Given the description of an element on the screen output the (x, y) to click on. 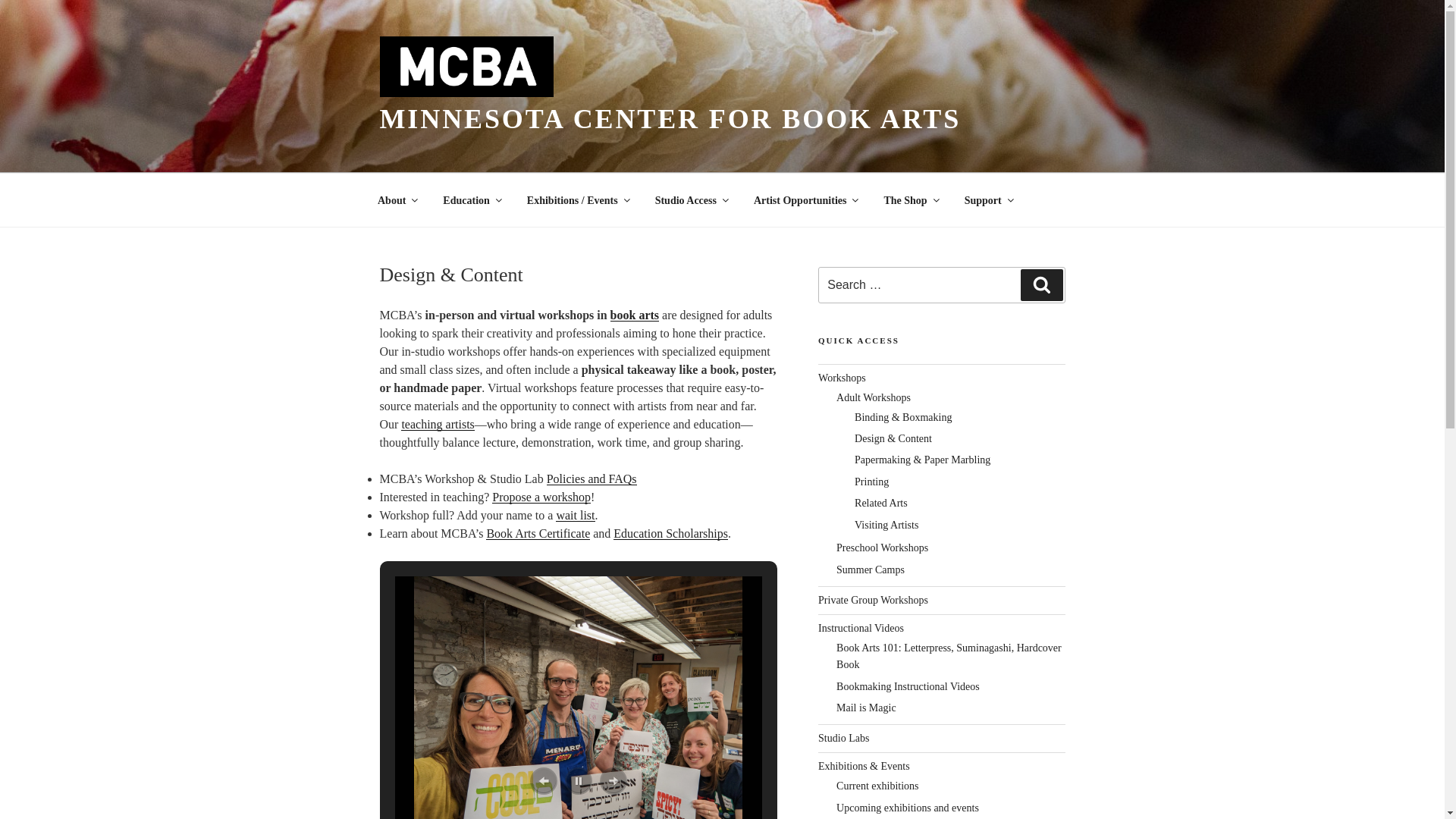
About (396, 200)
Workshops Page testimonials2 (577, 699)
Education (471, 200)
MINNESOTA CENTER FOR BOOK ARTS (669, 119)
